Given the description of an element on the screen output the (x, y) to click on. 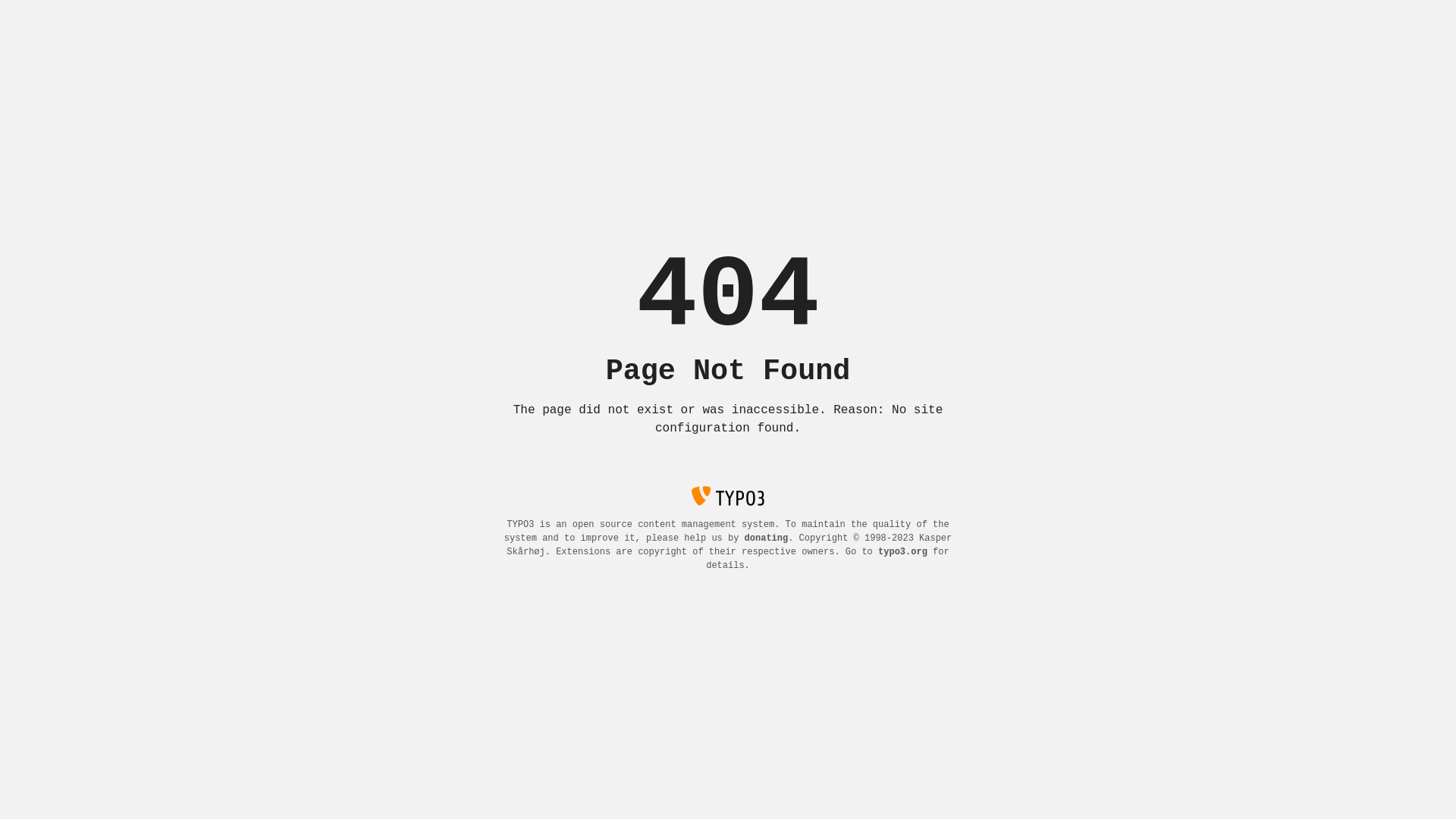
donating Element type: text (766, 538)
typo3.org Element type: text (902, 551)
